Given the description of an element on the screen output the (x, y) to click on. 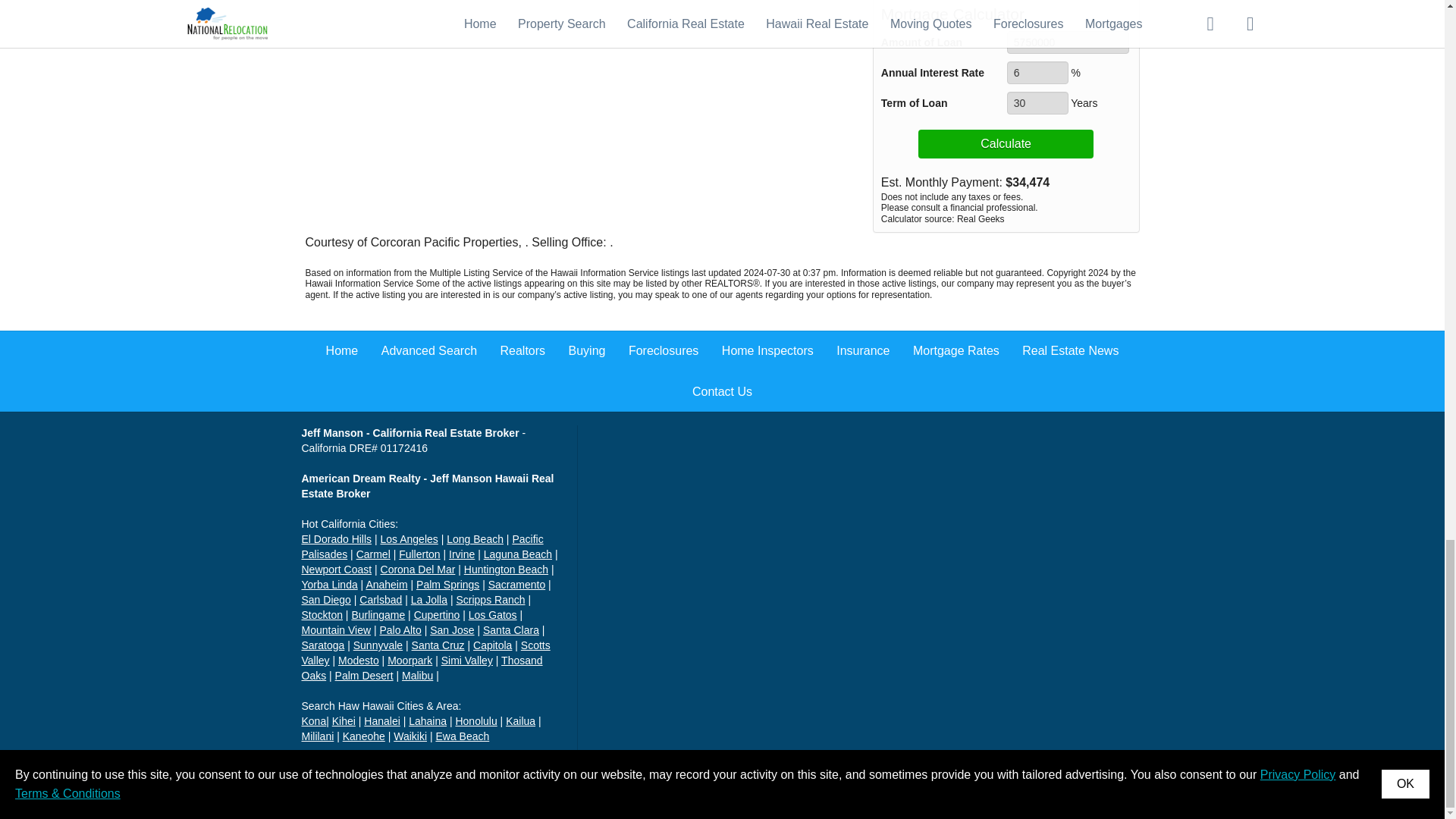
5750000 (1068, 42)
6 (1037, 72)
30 (1037, 102)
